Given the description of an element on the screen output the (x, y) to click on. 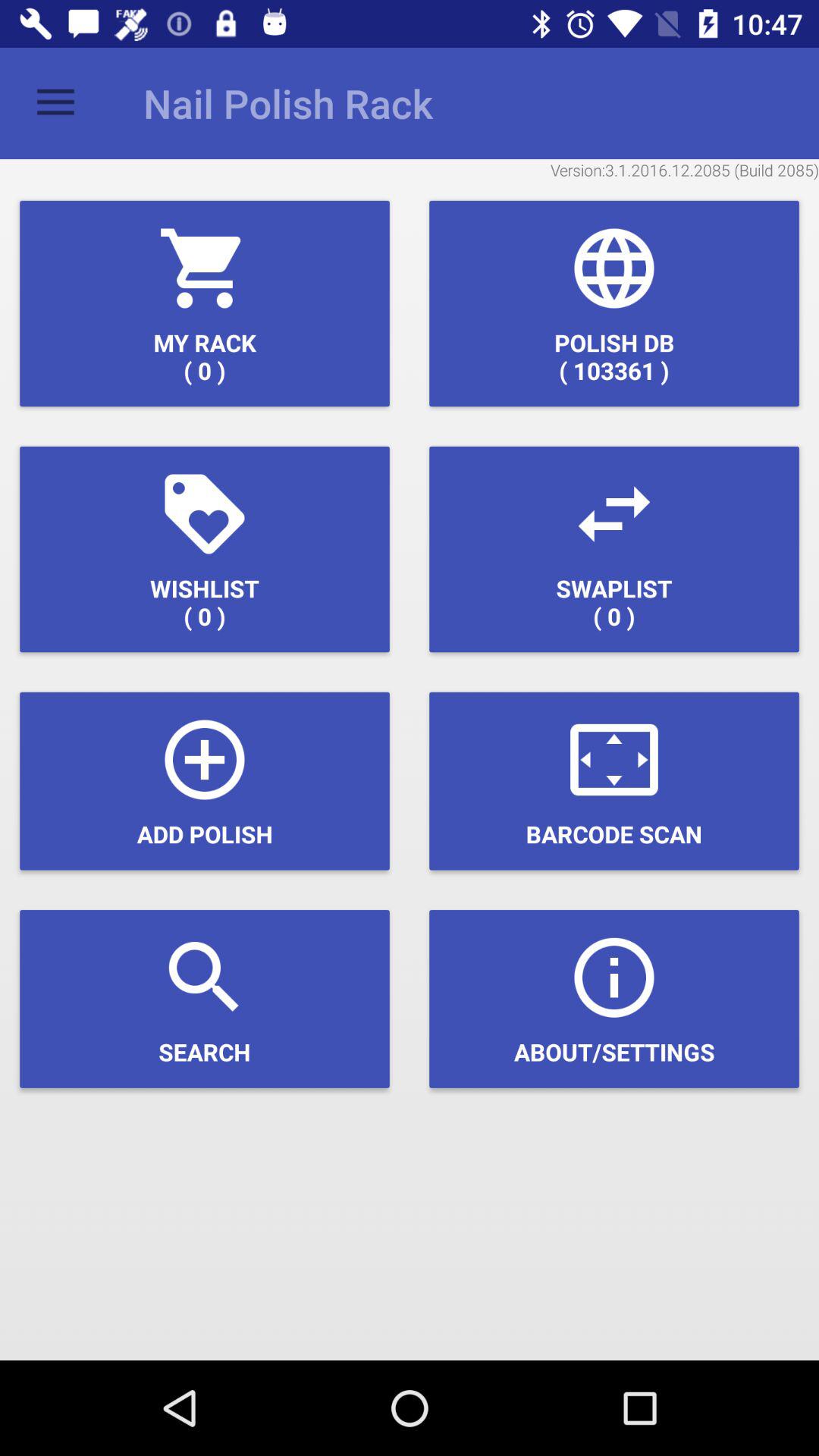
choose icon below swaplist
( 0 ) icon (614, 781)
